Given the description of an element on the screen output the (x, y) to click on. 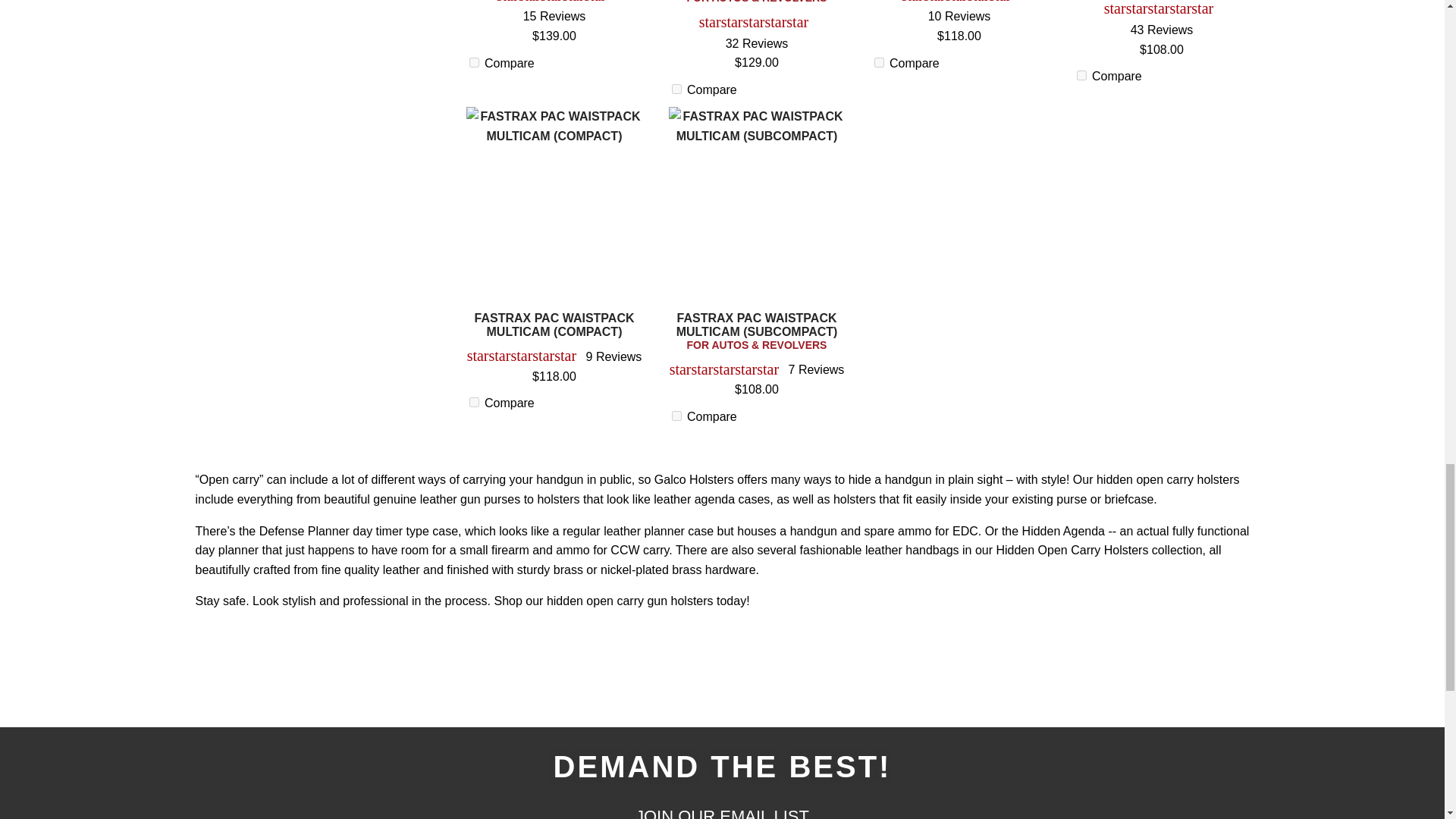
1509 (676, 415)
1503 (676, 89)
1492 (1081, 75)
1522 (473, 62)
1520 (878, 62)
1521 (473, 402)
